Given the description of an element on the screen output the (x, y) to click on. 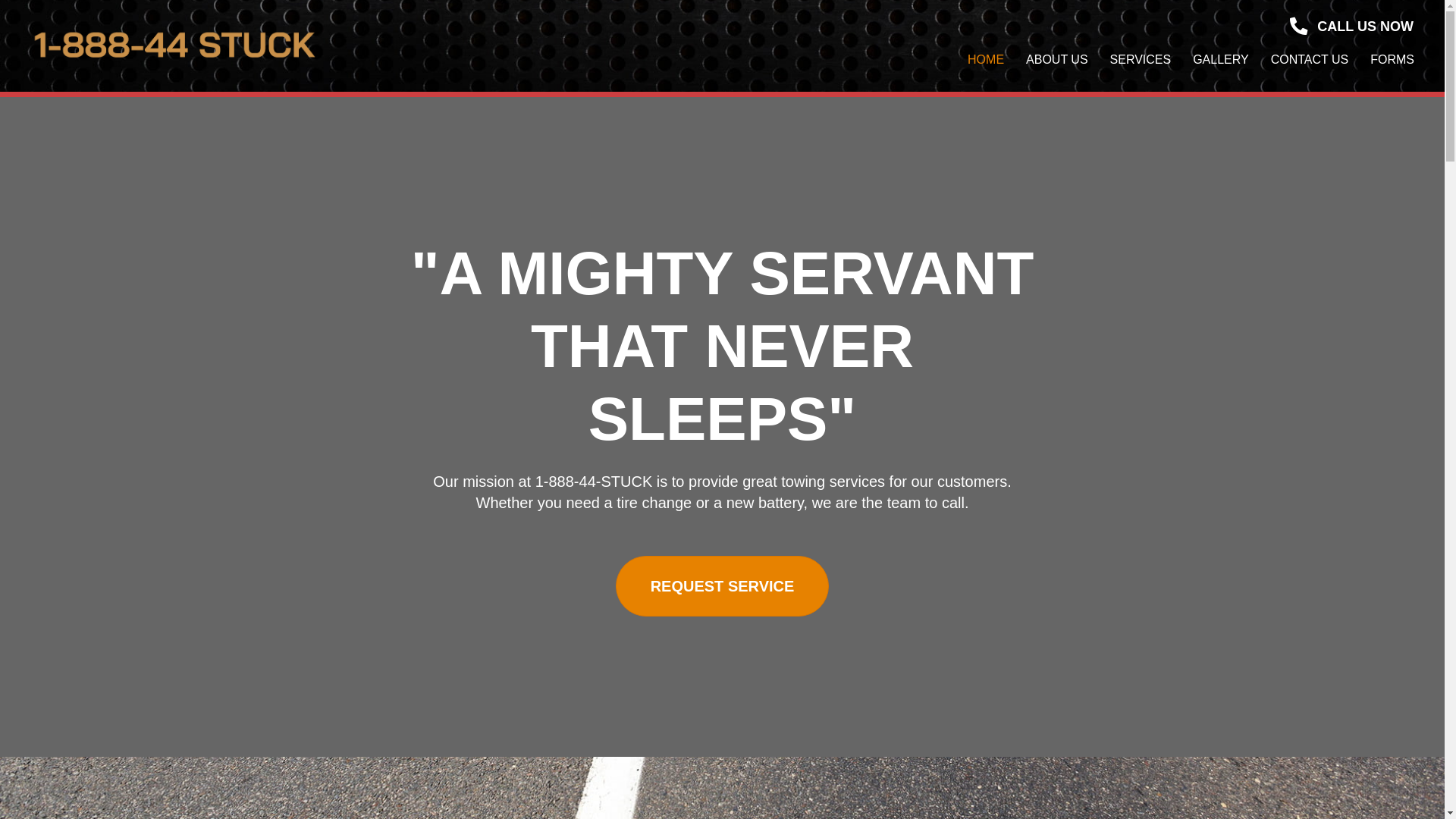
FORMS Element type: text (1391, 59)
SERVICES Element type: text (1140, 59)
HOME Element type: text (985, 59)
CALL US NOW Element type: text (1351, 25)
GALLERY Element type: text (1220, 59)
ABOUT US Element type: text (1056, 59)
REQUEST SERVICE Element type: text (722, 585)
CONTACT US Element type: text (1309, 59)
188844stuck Logo Element type: hover (173, 45)
